Given the description of an element on the screen output the (x, y) to click on. 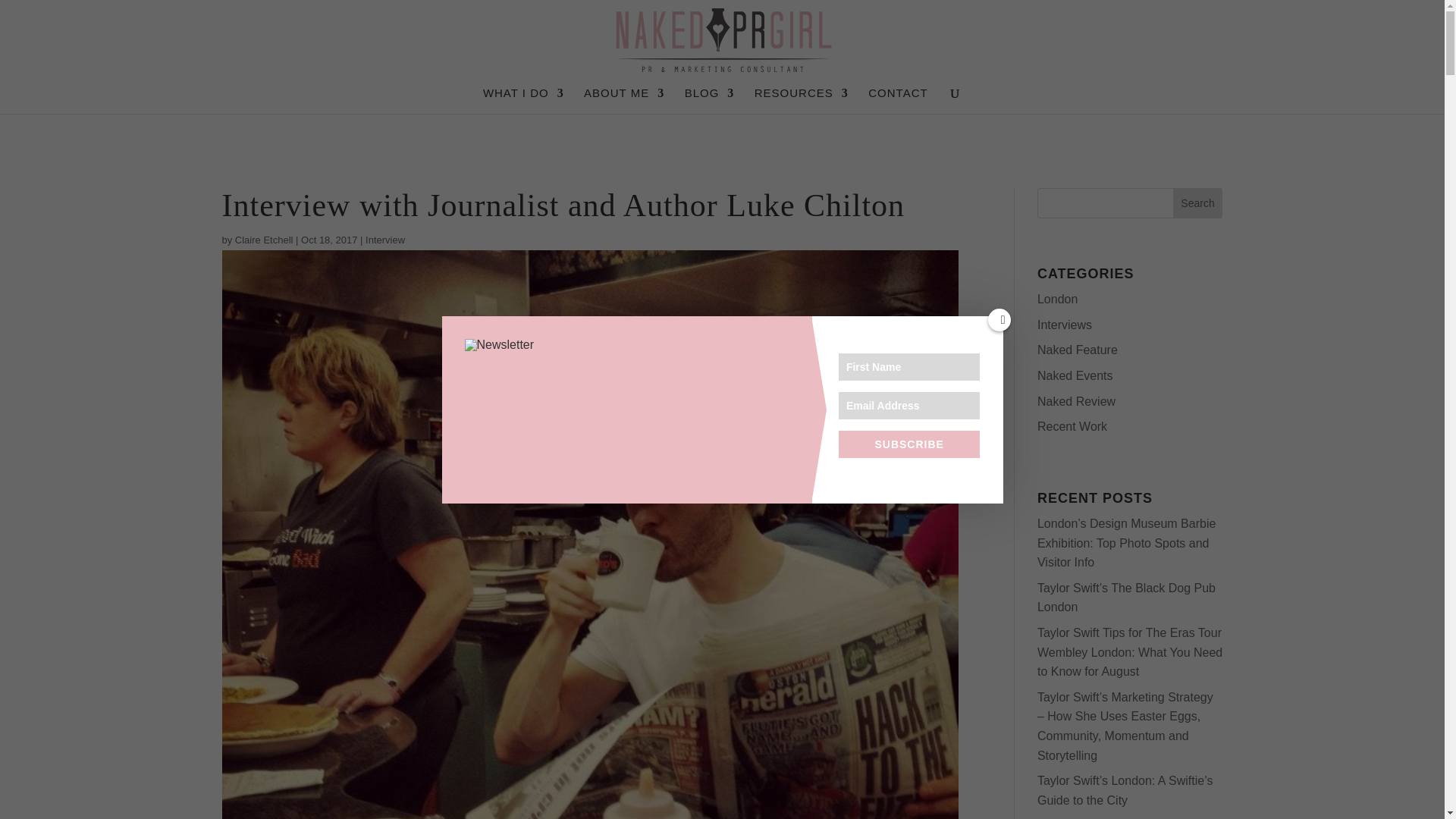
BLOG (709, 100)
CONTACT (897, 100)
Search (1198, 203)
WHAT I DO (523, 100)
ABOUT ME (623, 100)
RESOURCES (801, 100)
Posts by Claire Etchell (264, 239)
